Given the description of an element on the screen output the (x, y) to click on. 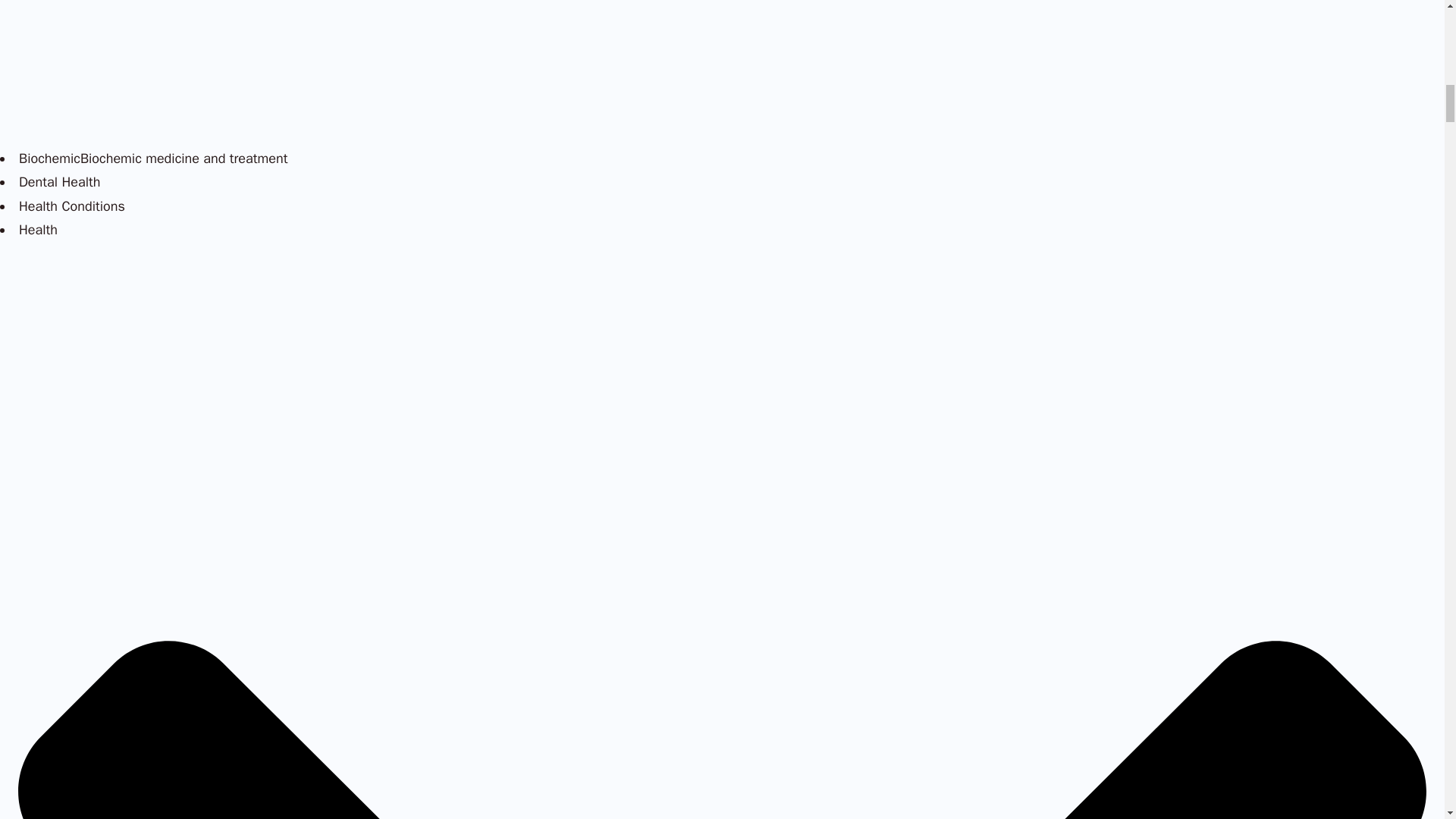
Health Conditions (71, 206)
Dental Health (59, 181)
Health Conditions (71, 206)
Biochemic (49, 158)
Biochemic (49, 158)
Dental Health (59, 181)
